Given the description of an element on the screen output the (x, y) to click on. 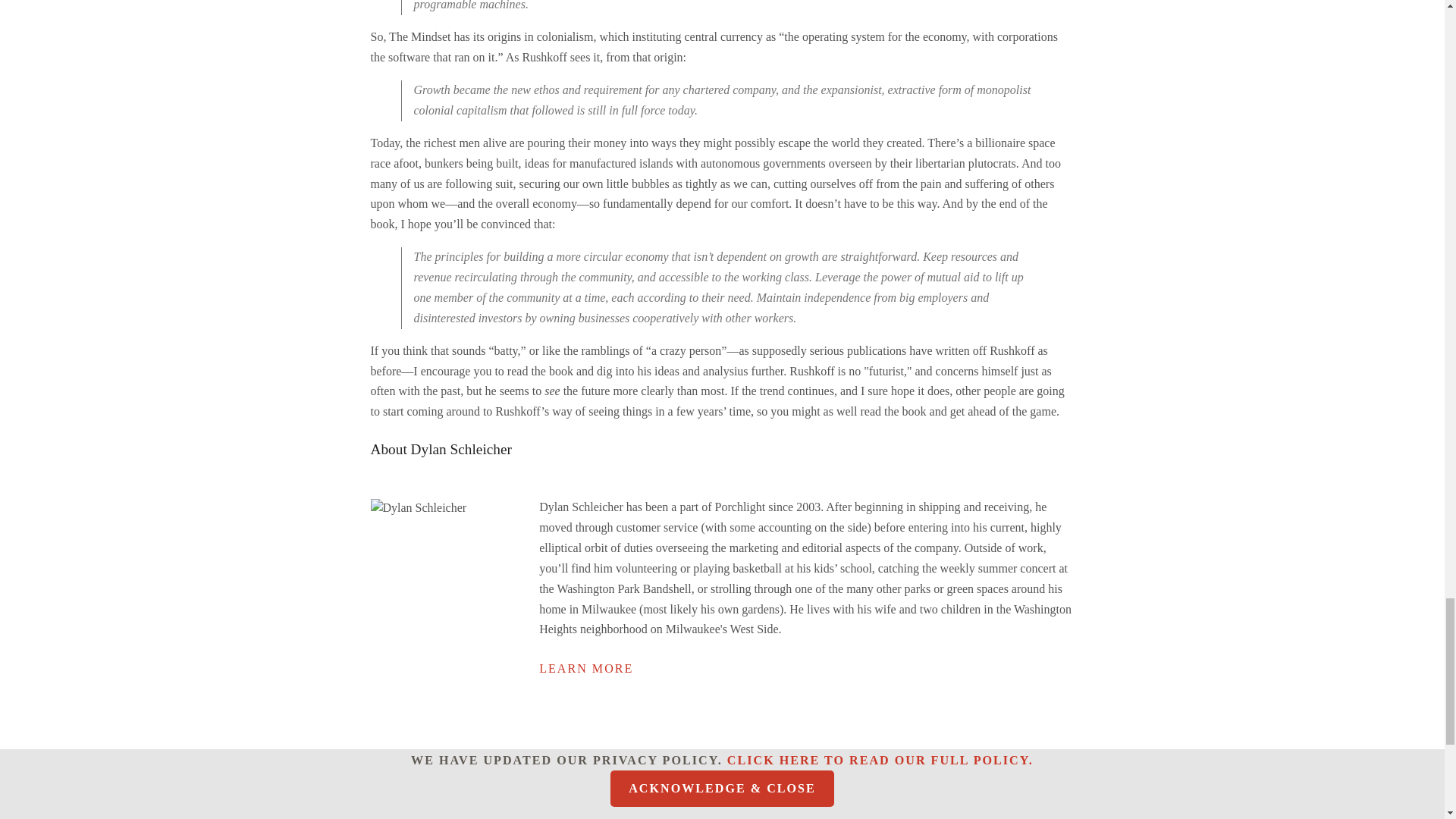
Dylan Schleicher (417, 507)
